Given the description of an element on the screen output the (x, y) to click on. 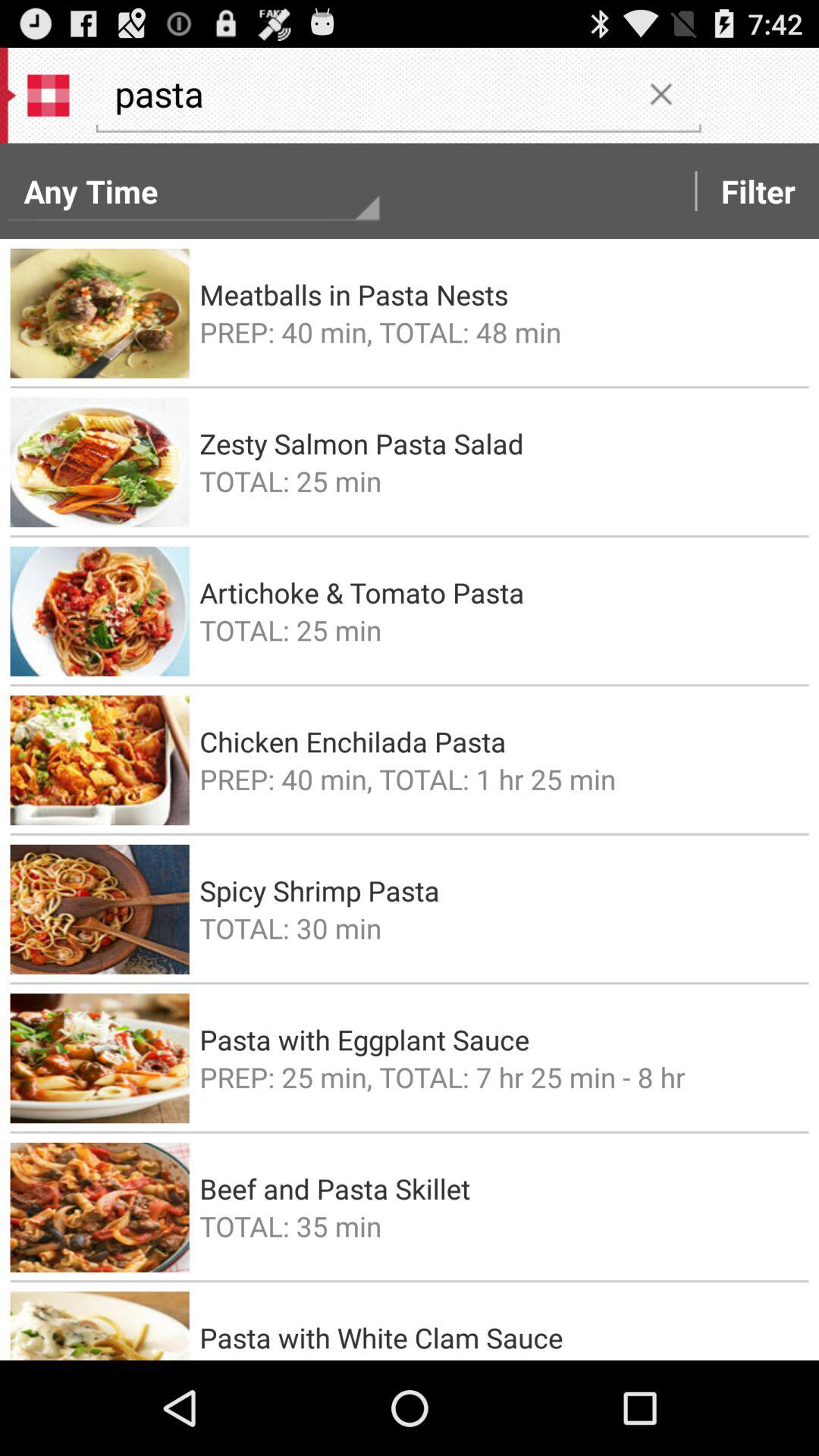
turn on app above total: 35 min (498, 1188)
